Given the description of an element on the screen output the (x, y) to click on. 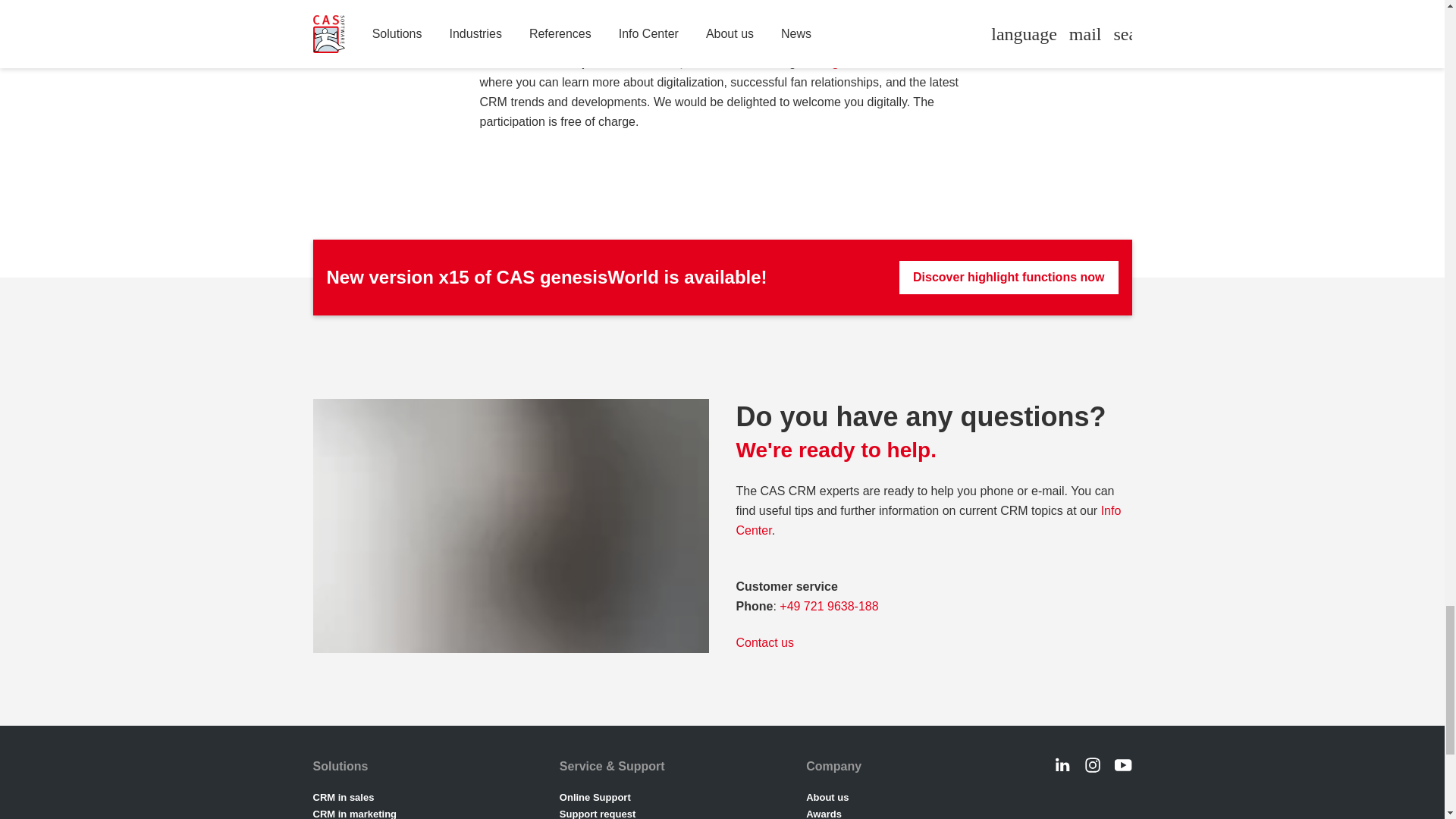
Instagram (1091, 764)
YouTube (1122, 764)
LinkedIn (1061, 764)
